Given the description of an element on the screen output the (x, y) to click on. 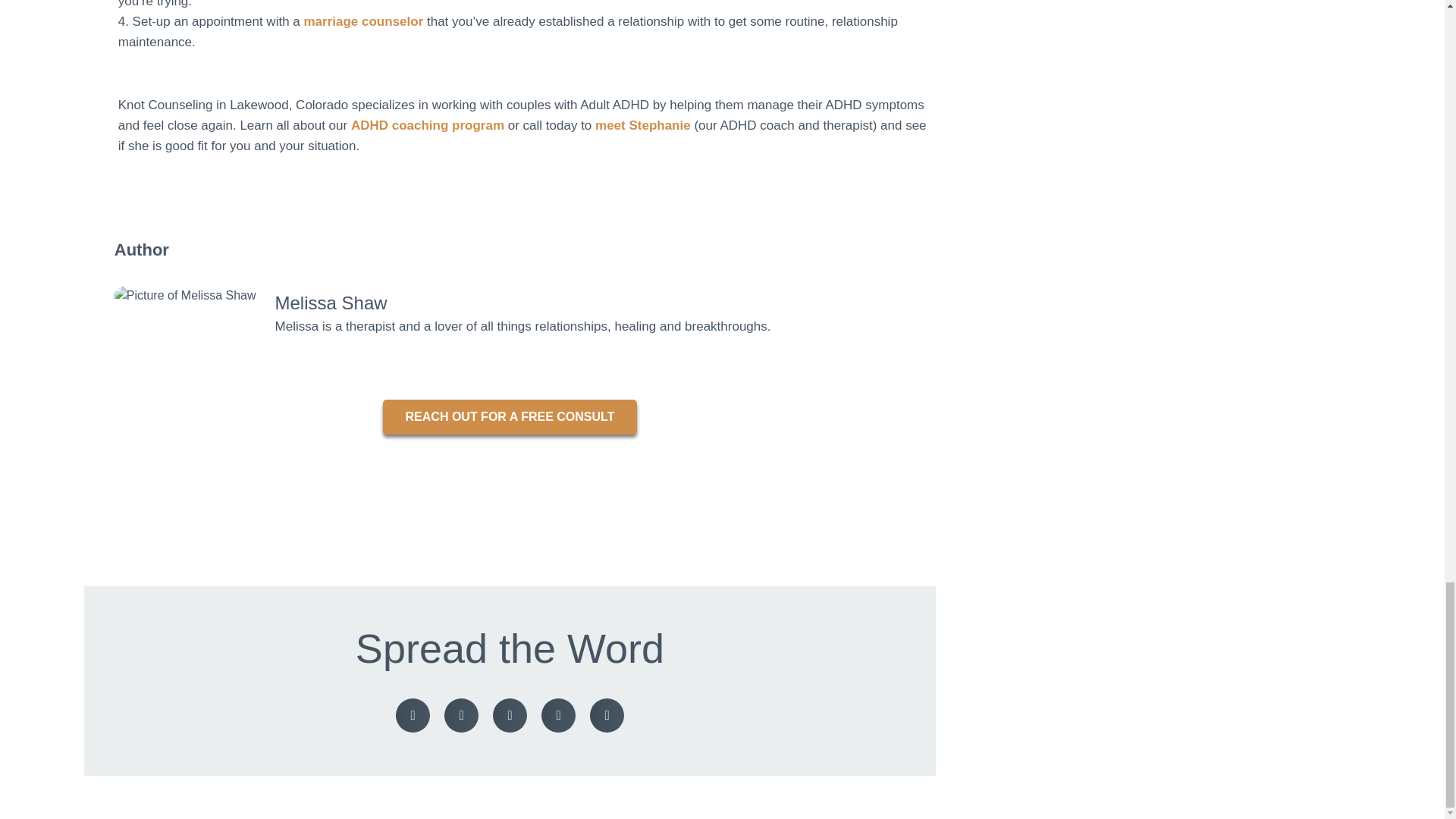
meet Stephanie (642, 124)
REACH OUT FOR A FREE CONSULT (509, 416)
marriage counselor (362, 21)
ADHD coaching program (429, 124)
